Given the description of an element on the screen output the (x, y) to click on. 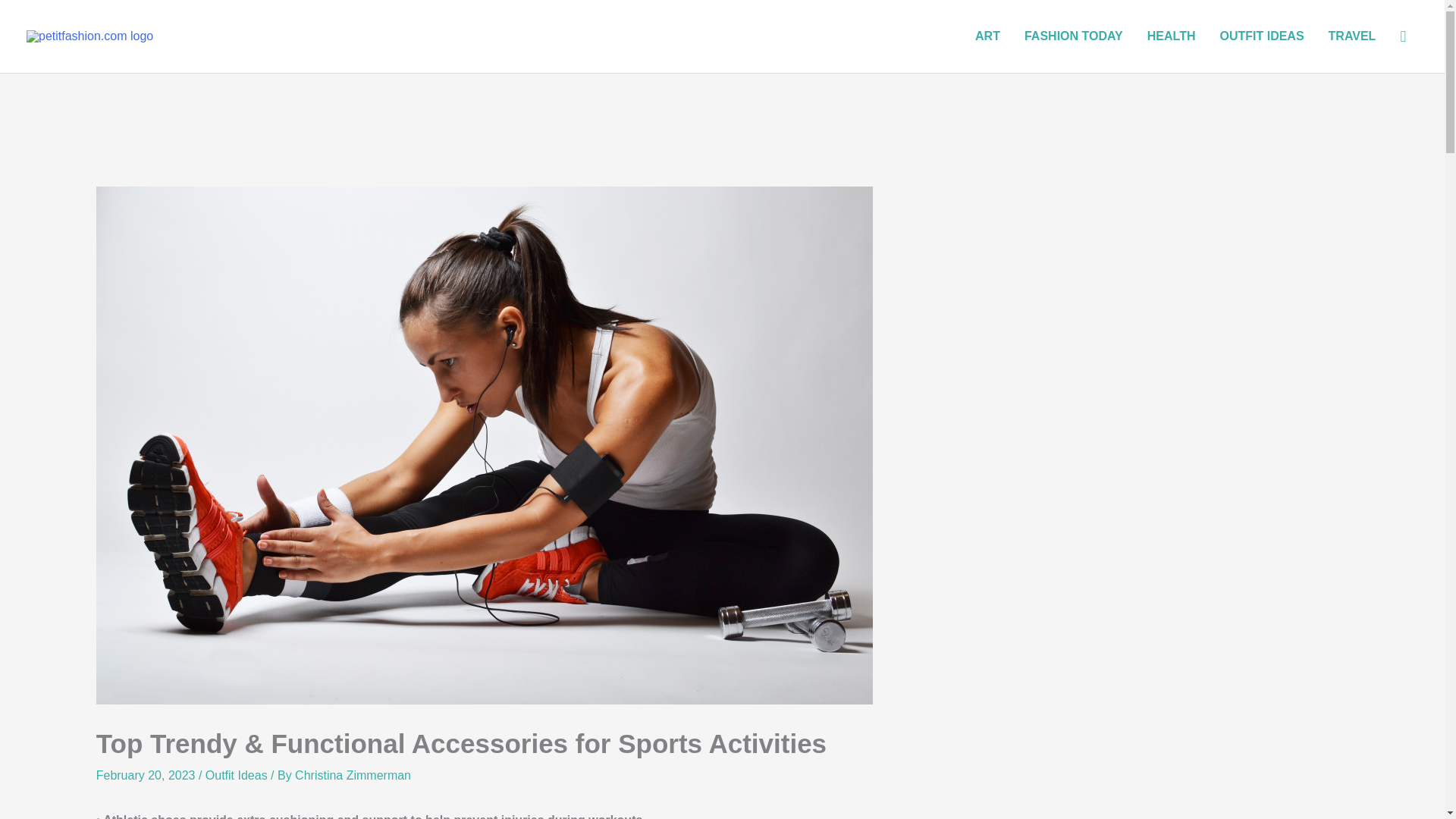
TRAVEL (1352, 36)
FASHION TODAY (1073, 36)
HEALTH (1171, 36)
Outfit Ideas (236, 775)
View all posts by Christina Zimmerman (352, 775)
ART (986, 36)
OUTFIT IDEAS (1261, 36)
Christina Zimmerman (352, 775)
